Given the description of an element on the screen output the (x, y) to click on. 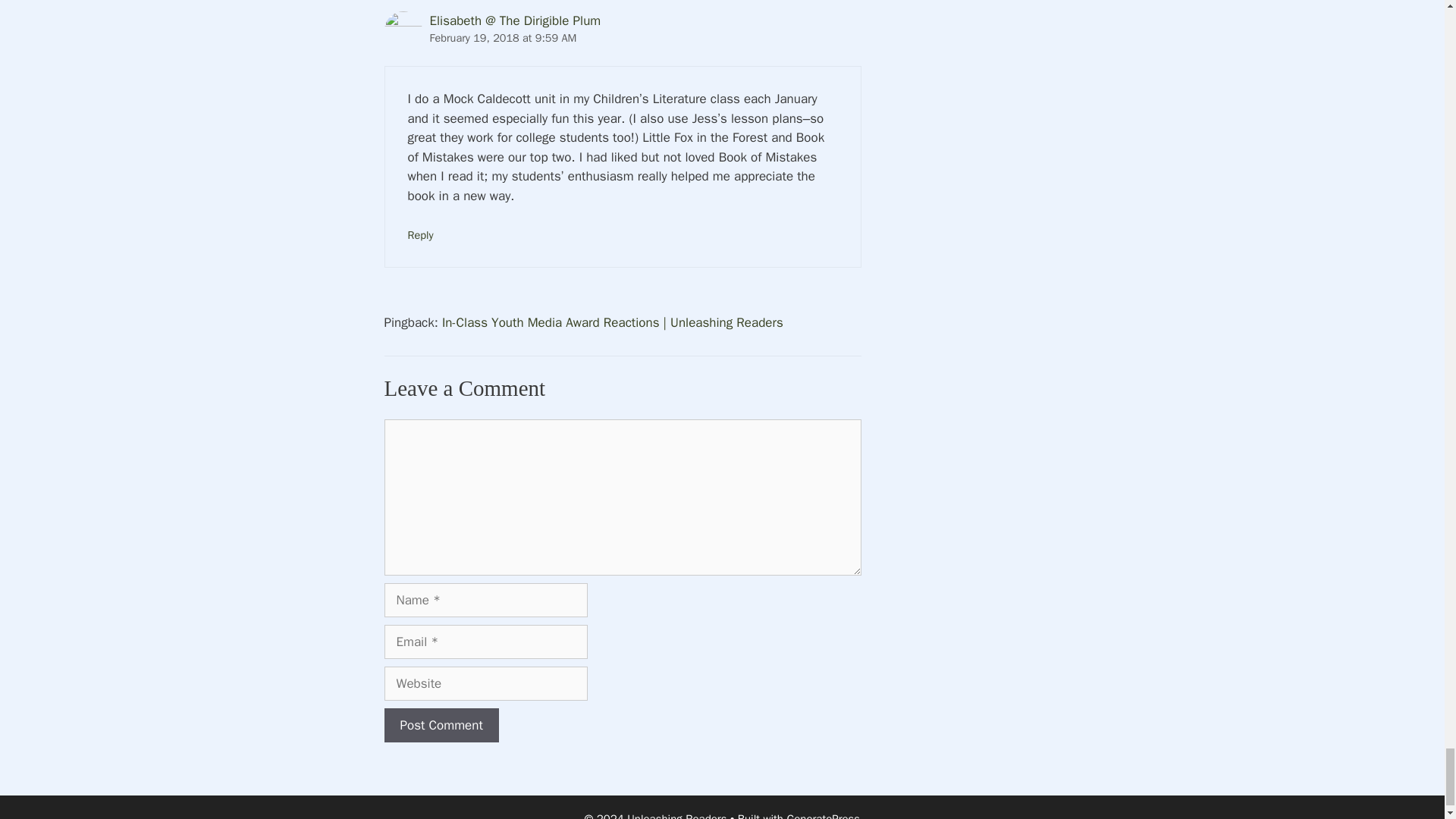
Post Comment (440, 725)
